Given the description of an element on the screen output the (x, y) to click on. 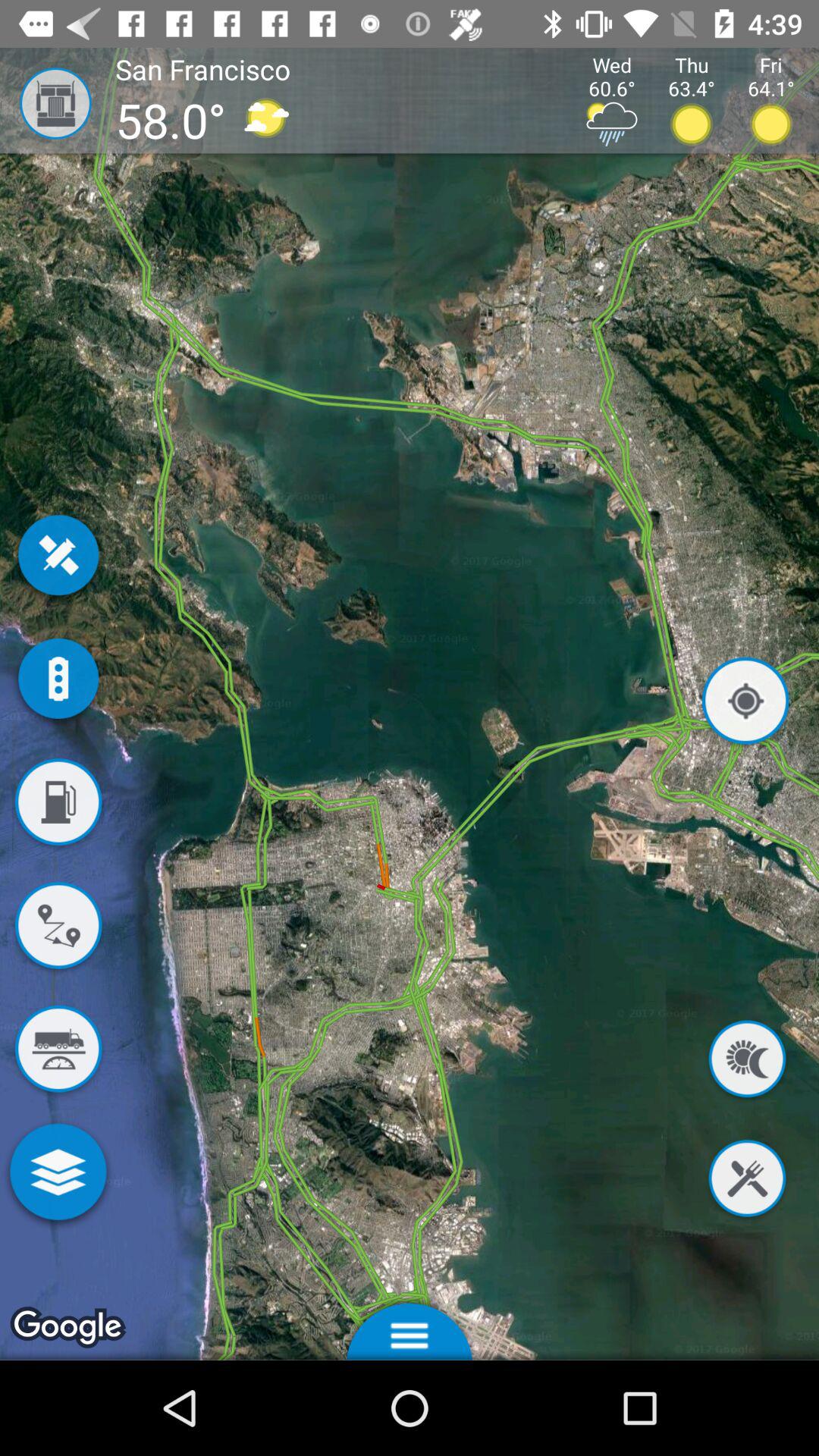
find neaby food (747, 1181)
